Given the description of an element on the screen output the (x, y) to click on. 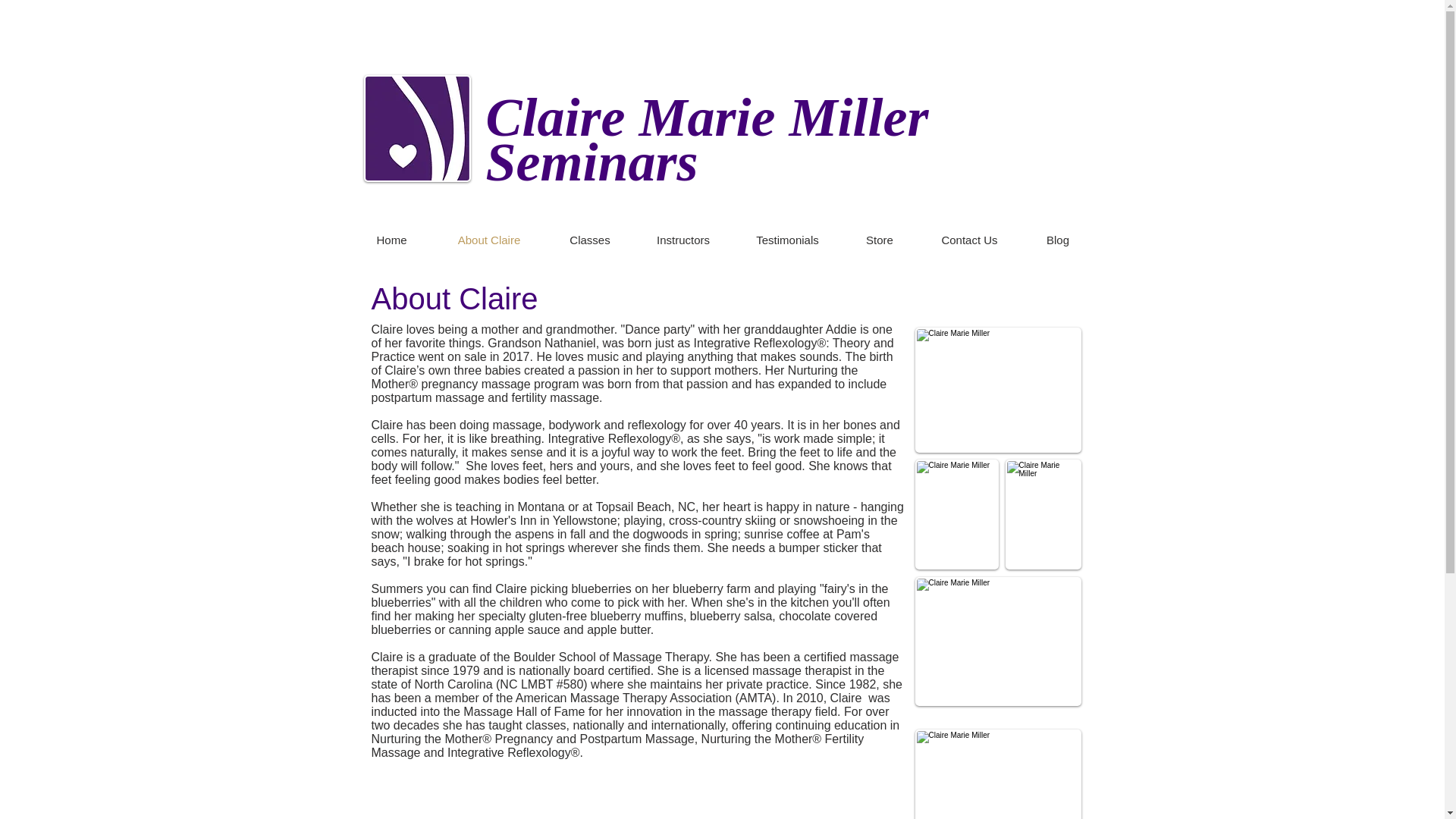
About Claire (489, 239)
Home (392, 239)
Instructors (683, 239)
Store (879, 239)
Blog (1058, 239)
Contact Us (969, 239)
Testimonials (786, 239)
